Given the description of an element on the screen output the (x, y) to click on. 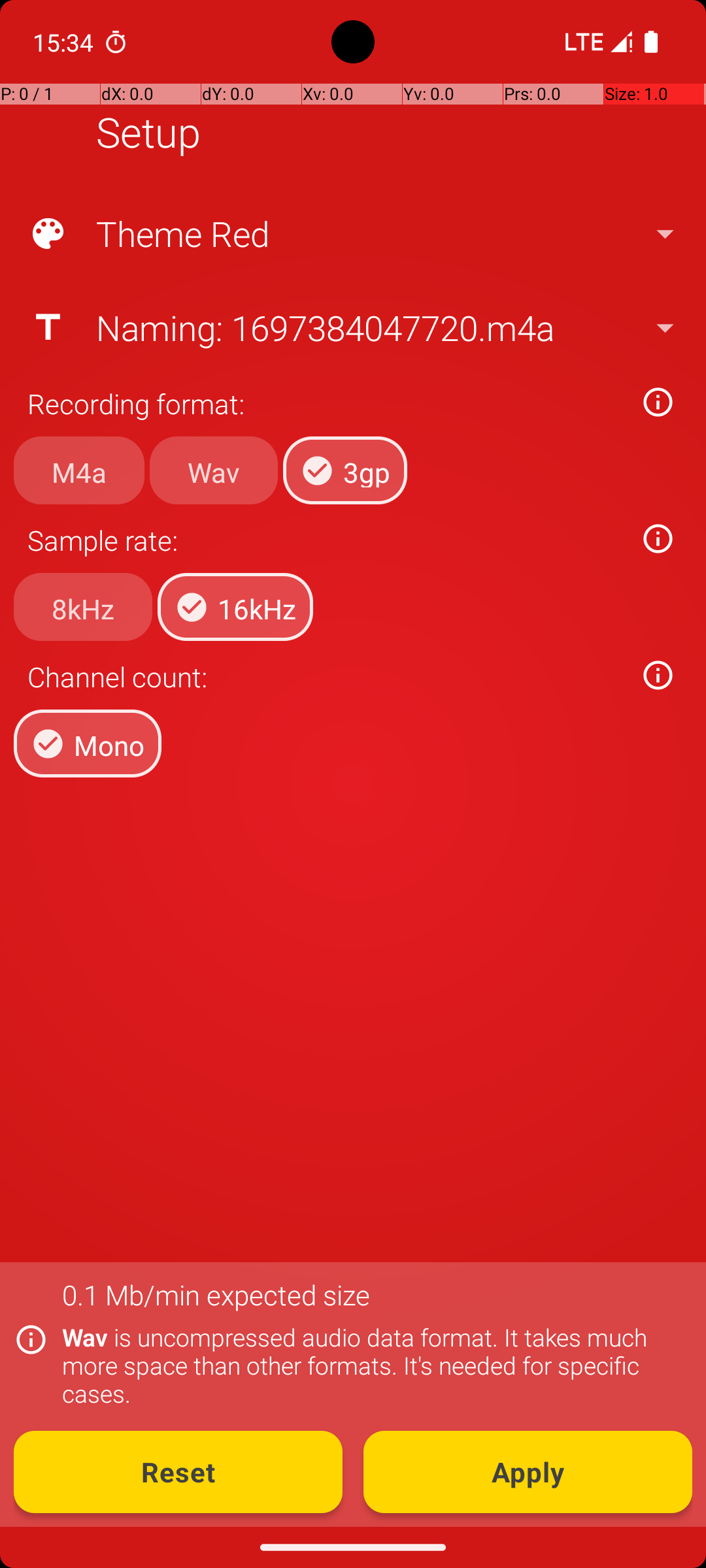
0.1 Mb/min expected size Element type: android.widget.TextView (215, 1294)
Wav is uncompressed audio data format. It takes much more space than other formats. It's needed for specific cases. Element type: android.widget.TextView (370, 1364)
Theme Red Element type: android.widget.TextView (352, 233)
Naming: 1697384047720.m4a Element type: android.widget.TextView (352, 327)
Clock notification:  Element type: android.widget.ImageView (115, 41)
Phone signal full. Element type: android.widget.FrameLayout (595, 41)
